Given the description of an element on the screen output the (x, y) to click on. 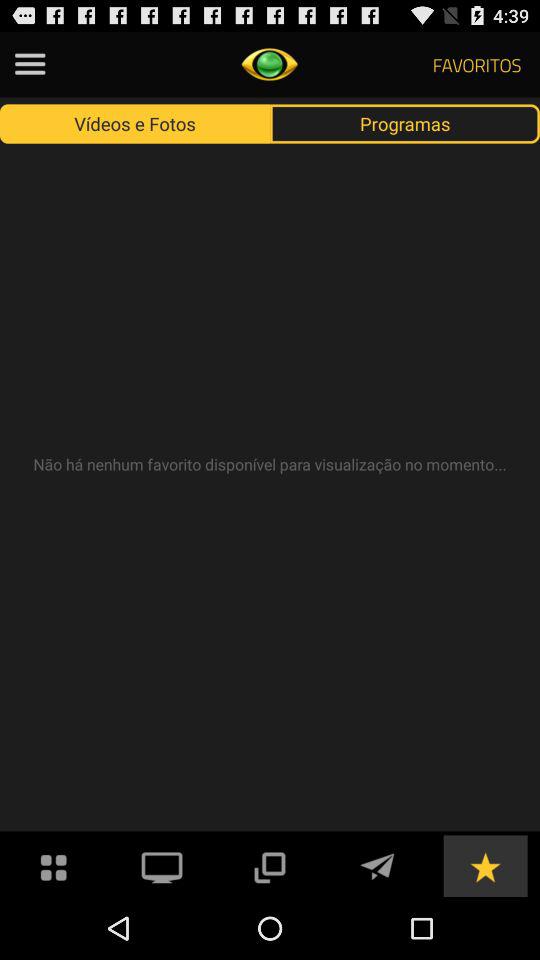
send message (377, 865)
